Given the description of an element on the screen output the (x, y) to click on. 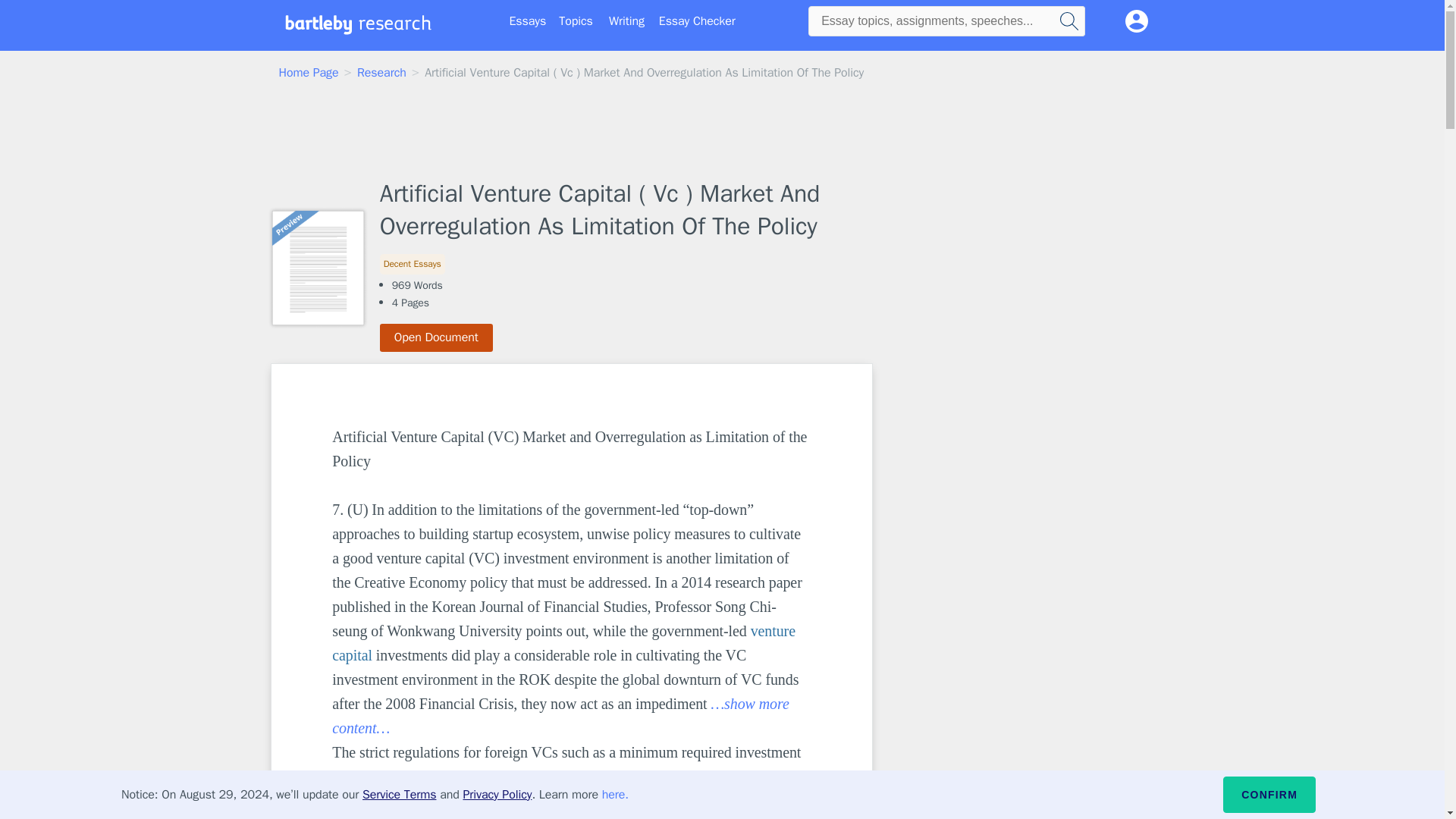
Essay Checker (697, 20)
Writing (626, 20)
Essays (528, 20)
Open Document (436, 337)
Research (381, 72)
venture capital (565, 642)
Home Page (309, 72)
Topics (575, 20)
